Given the description of an element on the screen output the (x, y) to click on. 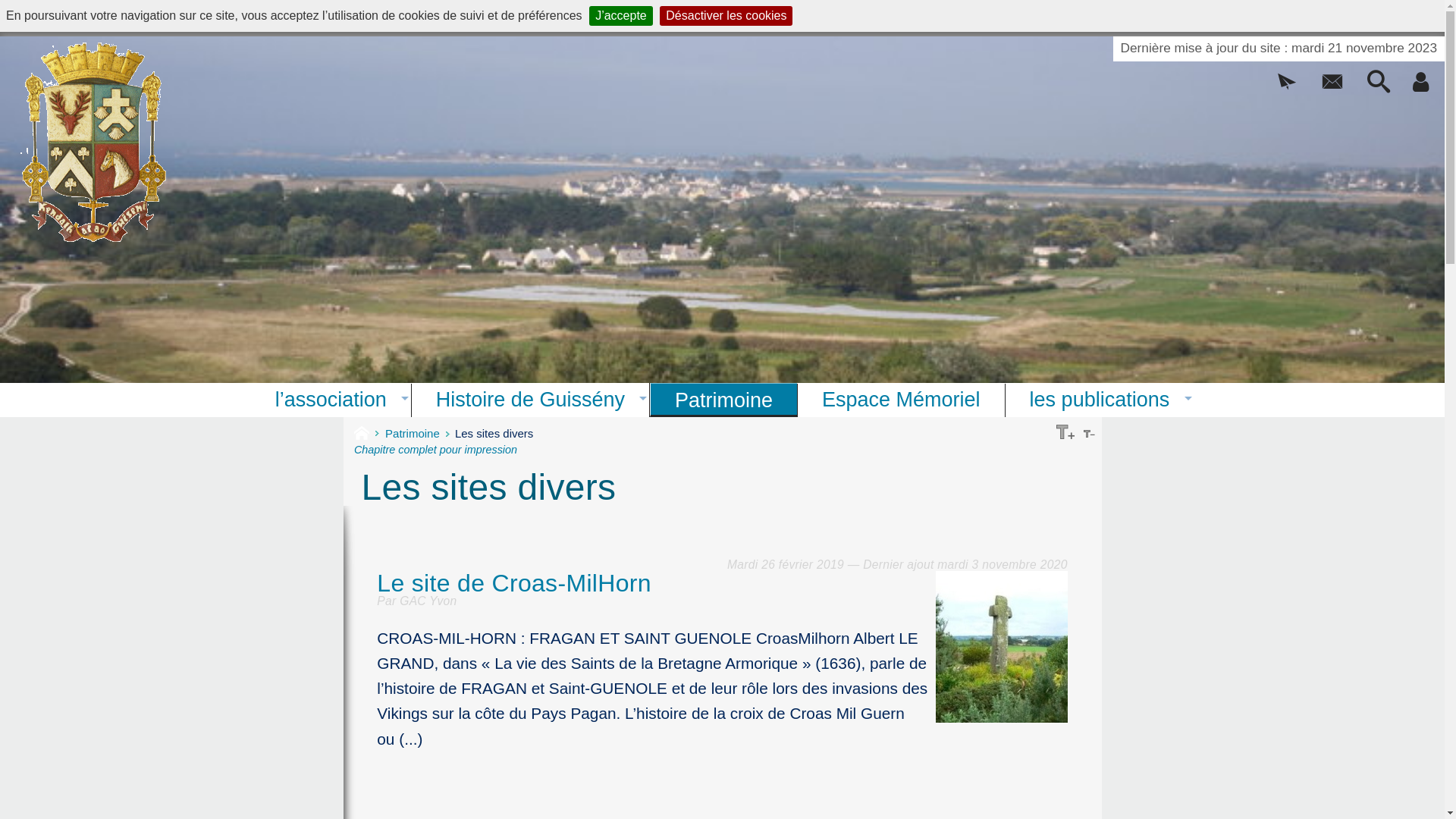
Contact Element type: hover (1332, 86)
les publications Element type: text (1099, 400)
Augmenter police Element type: hover (1064, 431)
Patrimoine Element type: text (418, 432)
Recevoir la newsletter du site Element type: hover (1286, 86)
Diminuer police Element type: hover (1088, 431)
Chapitre complet pour impression Element type: text (435, 449)
Accueil Element type: text (367, 432)
Le site de Croas-MilHorn Element type: text (721, 583)
Patrimoine Element type: text (723, 399)
